Given the description of an element on the screen output the (x, y) to click on. 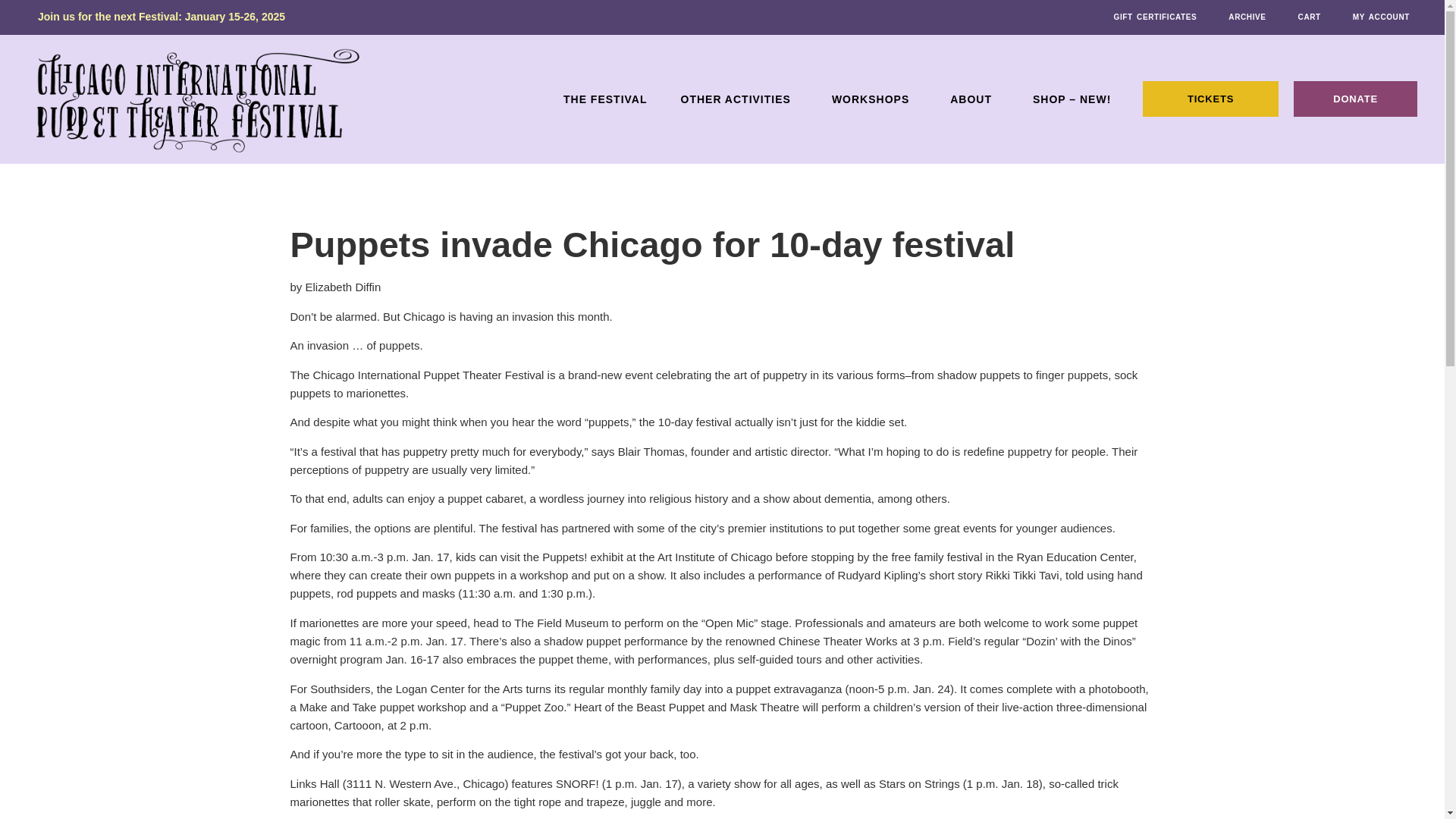
CART (1309, 17)
MY ACCOUNT (1380, 17)
THE FESTIVAL (605, 99)
ABOUT (974, 99)
WORKSHOPS (874, 99)
ARCHIVE (1246, 17)
GIFT CERTIFICATES (1154, 17)
OTHER ACTIVITIES (739, 99)
